Given the description of an element on the screen output the (x, y) to click on. 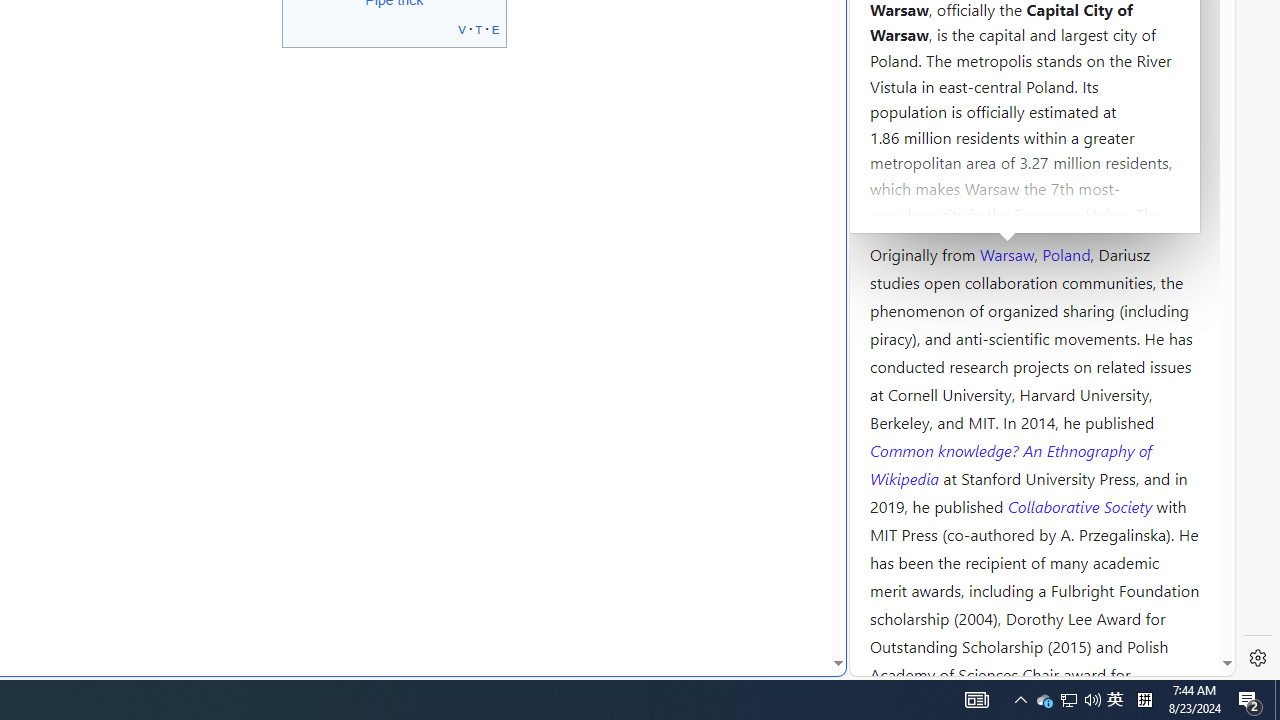
Poland (1065, 253)
Harvard University (934, 205)
Kozminski University (1034, 136)
Collaborative Society  (1082, 505)
e (495, 28)
